Given the description of an element on the screen output the (x, y) to click on. 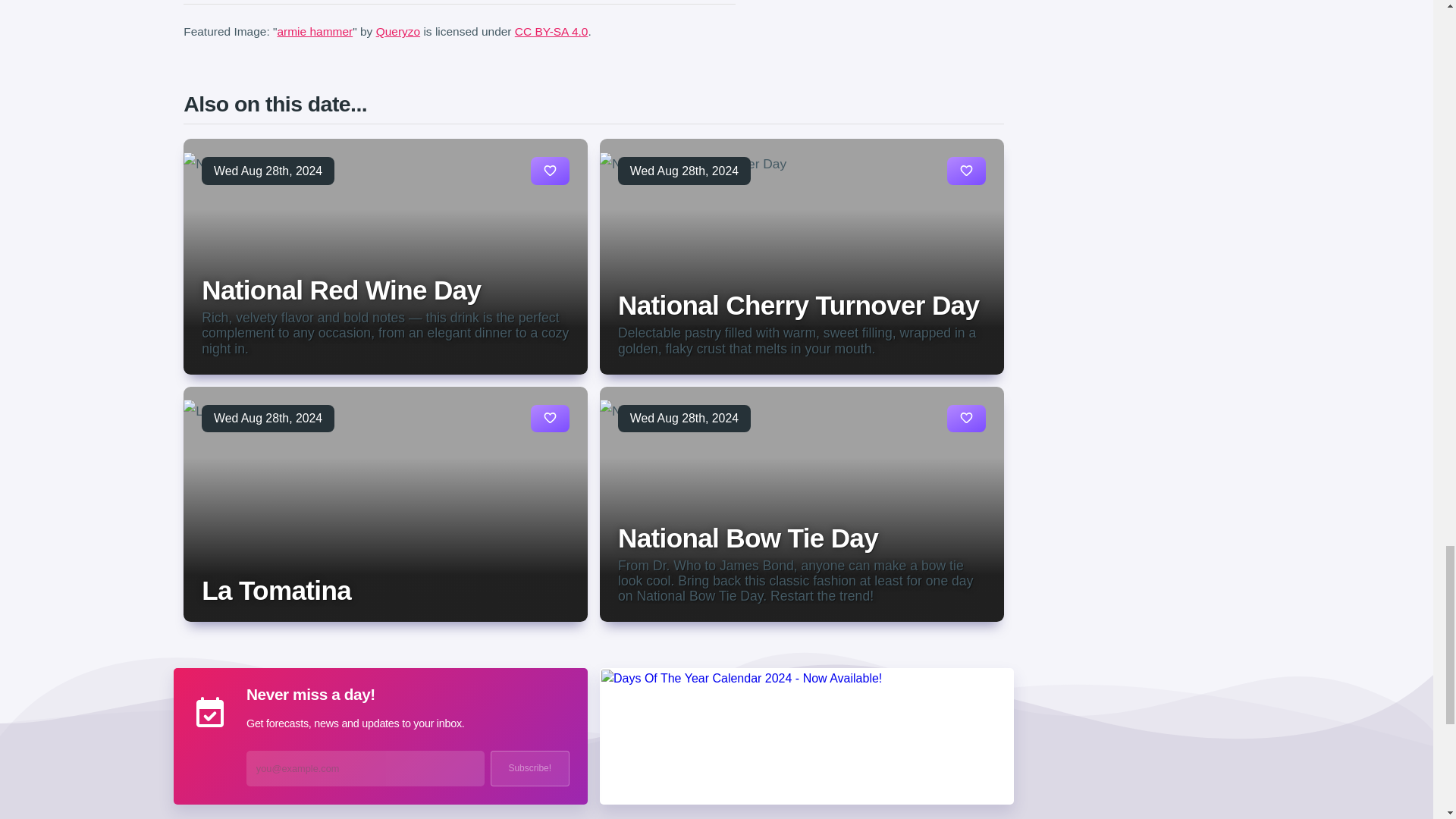
CC BY-SA 4.0 (551, 31)
Subscribe! (529, 768)
La Tomatina (276, 590)
Queryzo (397, 31)
National Red Wine Day (341, 289)
National Bow Tie Day (747, 537)
armie hammer (314, 31)
National Cherry Turnover Day (797, 305)
Subscribe! (529, 768)
